Given the description of an element on the screen output the (x, y) to click on. 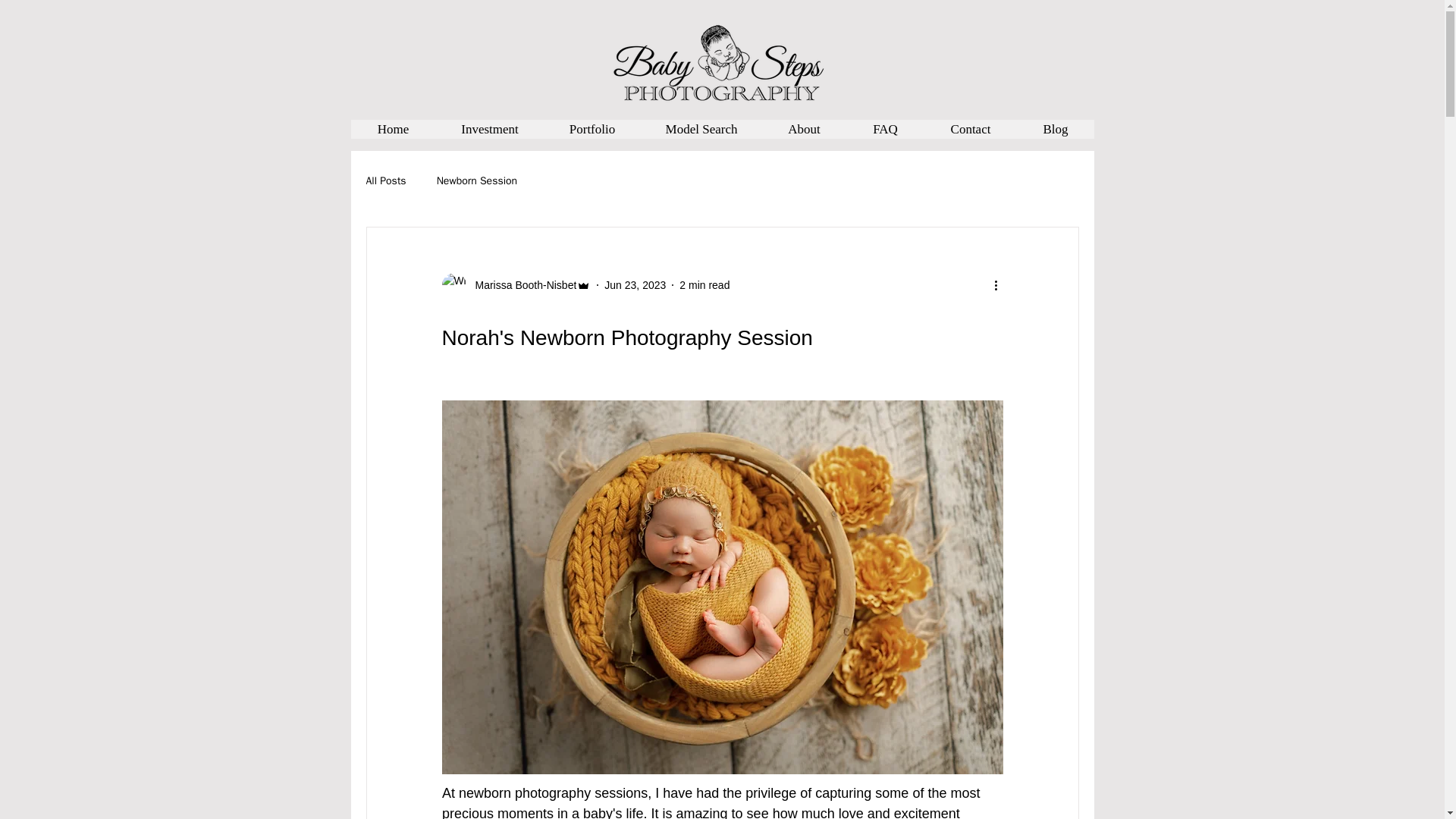
Marissa Booth-Nisbet (520, 285)
Home (392, 128)
About (803, 128)
Newborn Session (477, 181)
2 min read (704, 285)
Marissa Booth-Nisbet (516, 284)
All Posts (385, 181)
FAQ (884, 128)
Model Search (700, 128)
Investment (489, 128)
Contact (969, 128)
Blog (1054, 128)
Jun 23, 2023 (634, 285)
Portfolio (591, 128)
